Given the description of an element on the screen output the (x, y) to click on. 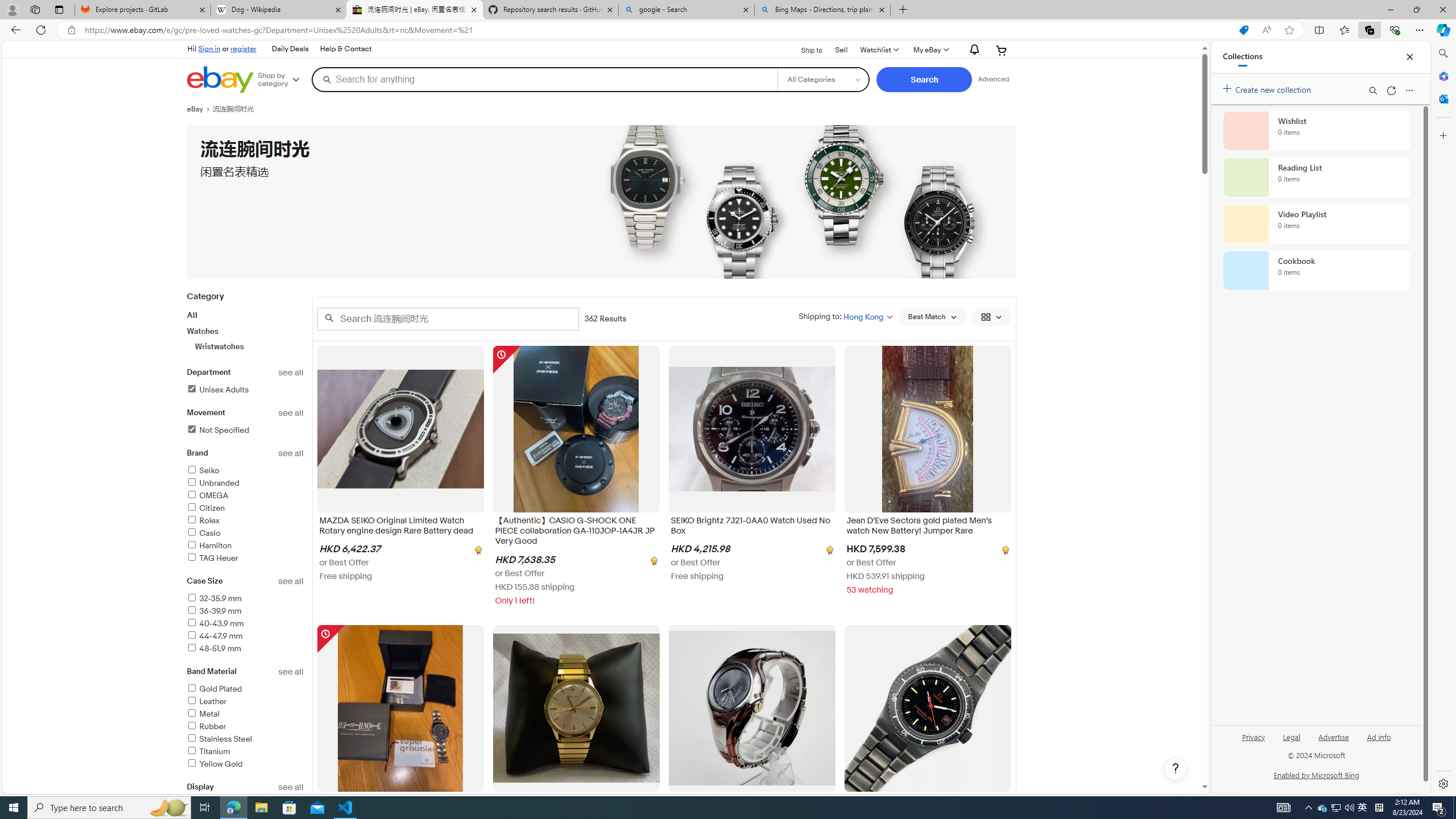
Shop by category (282, 79)
Metal (245, 714)
40-43.9 mm (245, 624)
Citizen (205, 507)
Yellow Gold (245, 764)
Titanium (208, 751)
See all movement refinements (291, 412)
Help & Contact (345, 49)
My eBay (930, 49)
Dog - Wikipedia (277, 9)
Not SpecifiedFilter Applied (245, 430)
Stainless Steel (245, 739)
